Given the description of an element on the screen output the (x, y) to click on. 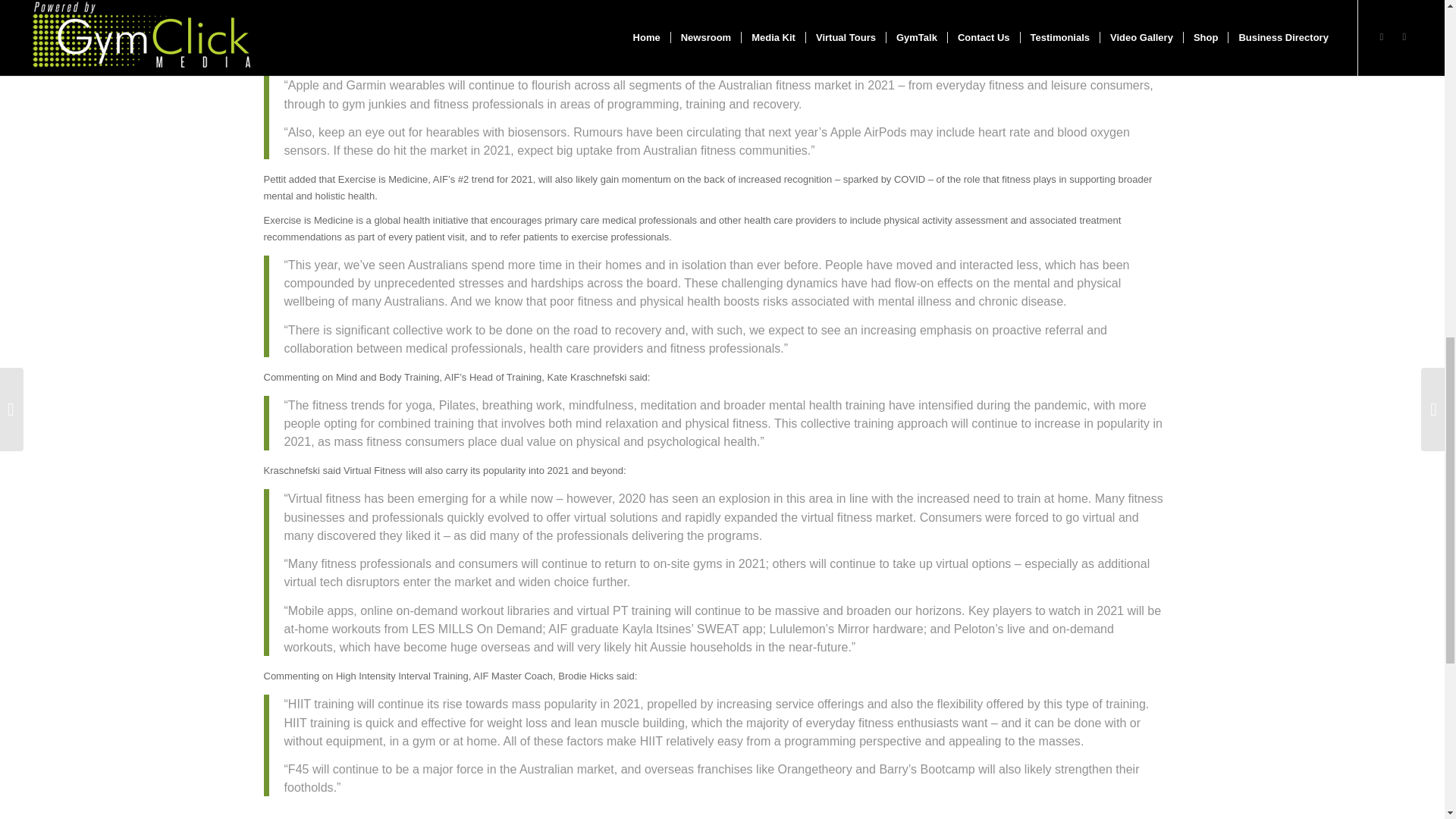
Page 1 (726, 85)
